Given the description of an element on the screen output the (x, y) to click on. 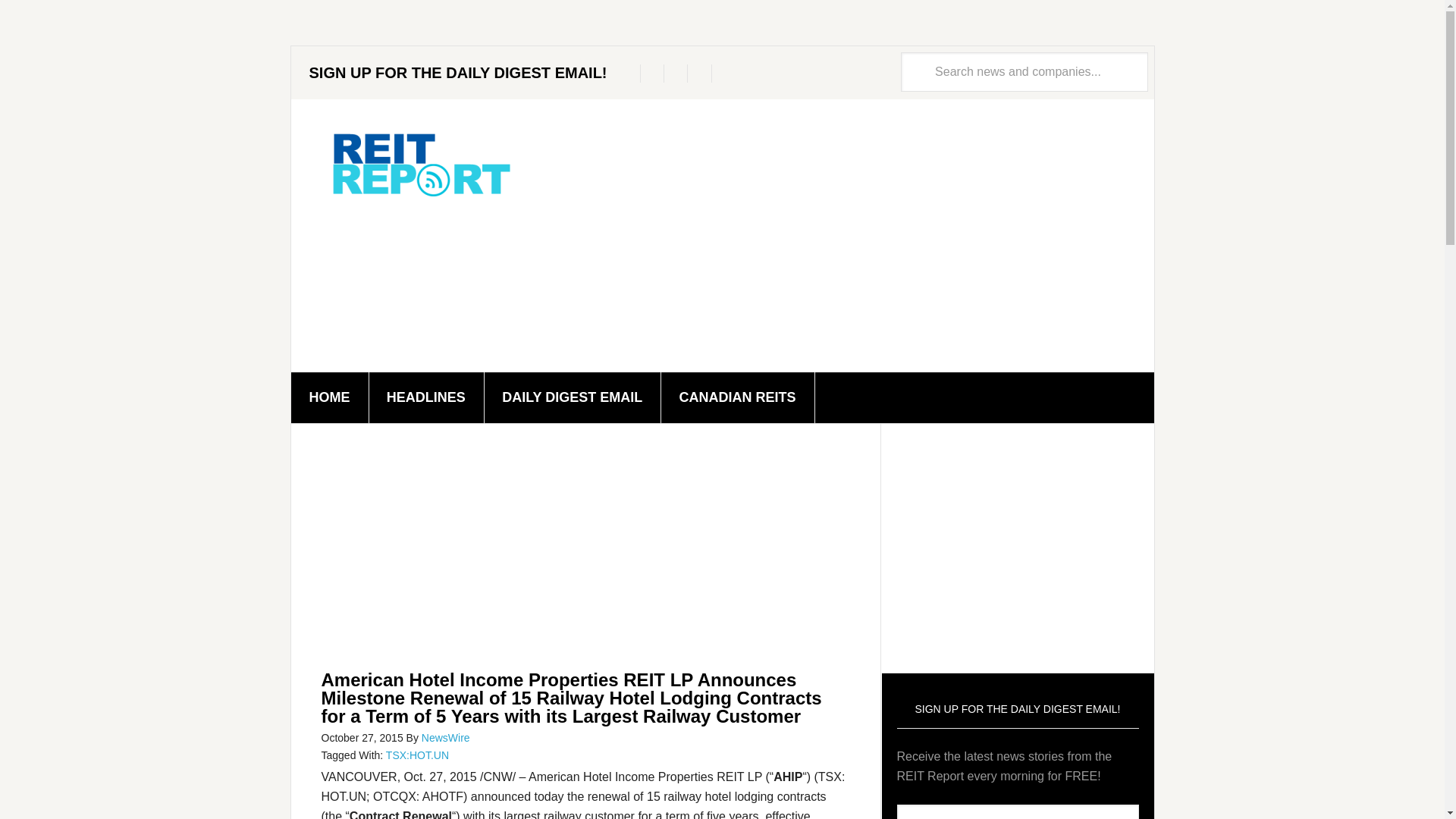
HEADLINES (426, 397)
GOOGLE PLUS ONE (678, 73)
FACEBOOK (654, 73)
TWITTER (631, 73)
HOME (330, 397)
CANADIAN REITS (738, 397)
Advertisement (585, 549)
NewsWire (446, 737)
DAILY DIGEST EMAIL (572, 397)
